Given the description of an element on the screen output the (x, y) to click on. 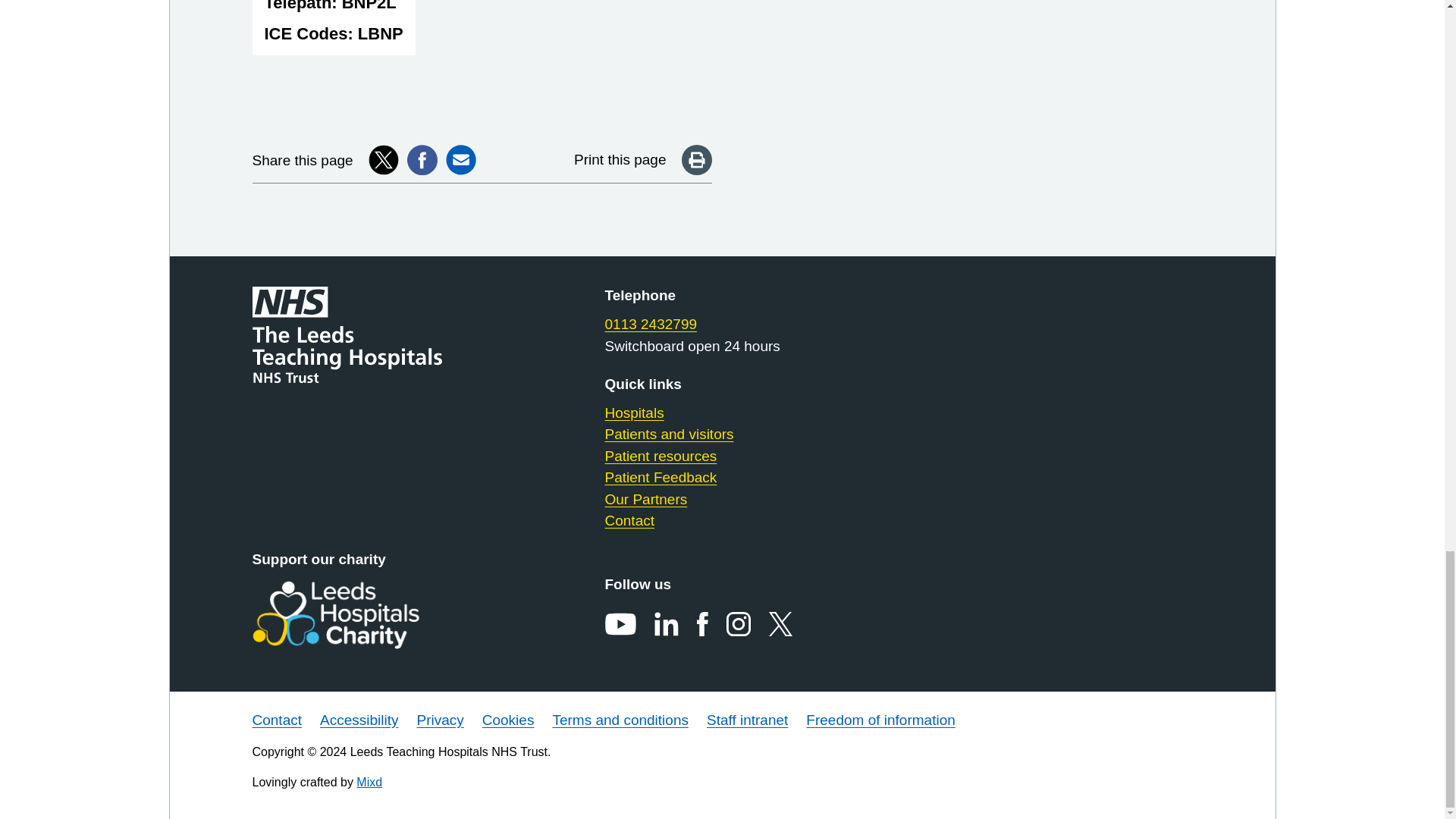
Leeds Teaching Hospitals NHS Trust Homepage (359, 334)
Share on Facebook (422, 159)
Leeds Hospital Charity (359, 614)
Share via Email (460, 159)
